Given the description of an element on the screen output the (x, y) to click on. 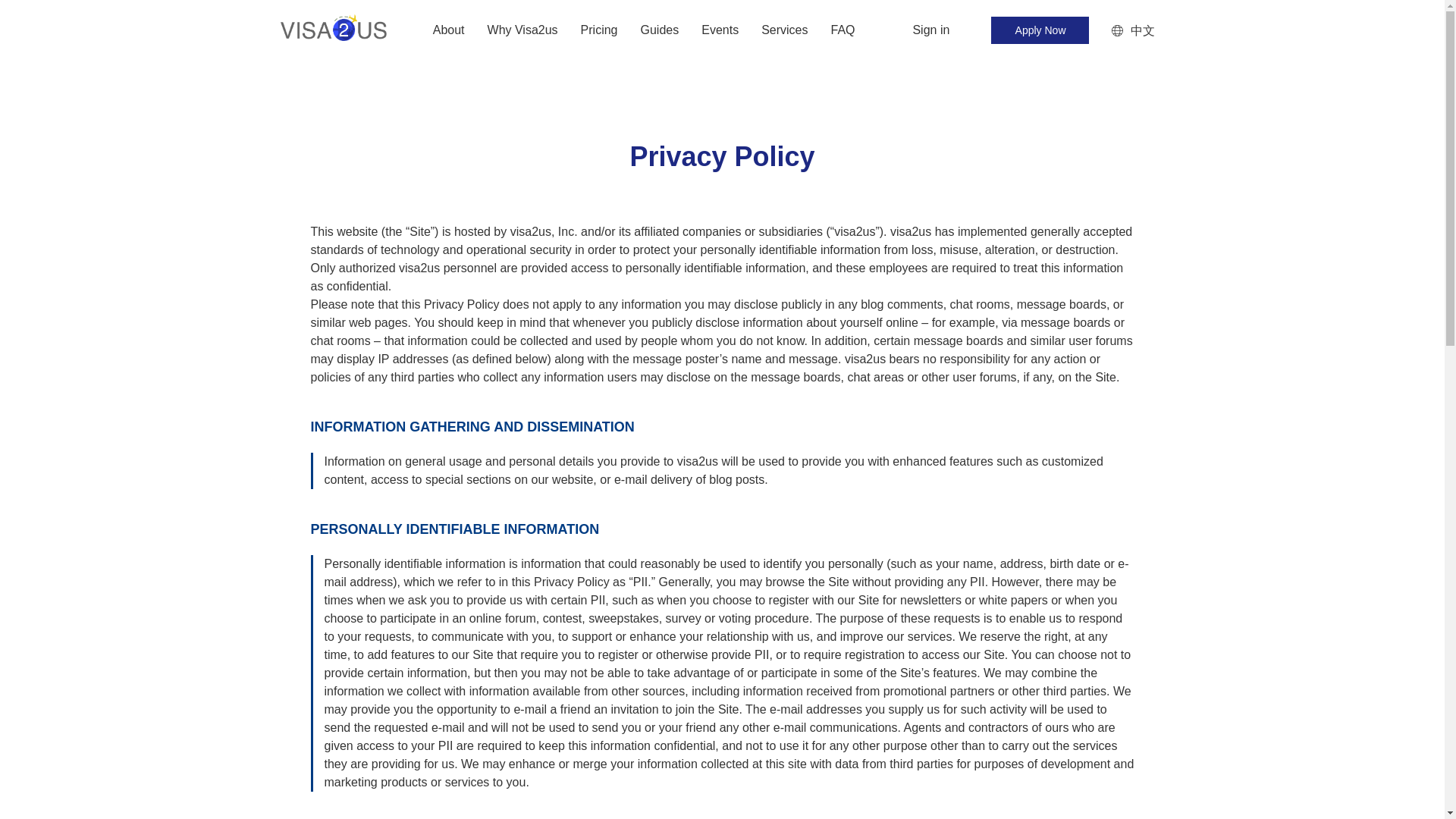
Apply Now (1039, 30)
Why Visa2us (522, 29)
About (448, 29)
Pricing (598, 29)
Services (784, 29)
Events (719, 29)
Guides (659, 29)
